Given the description of an element on the screen output the (x, y) to click on. 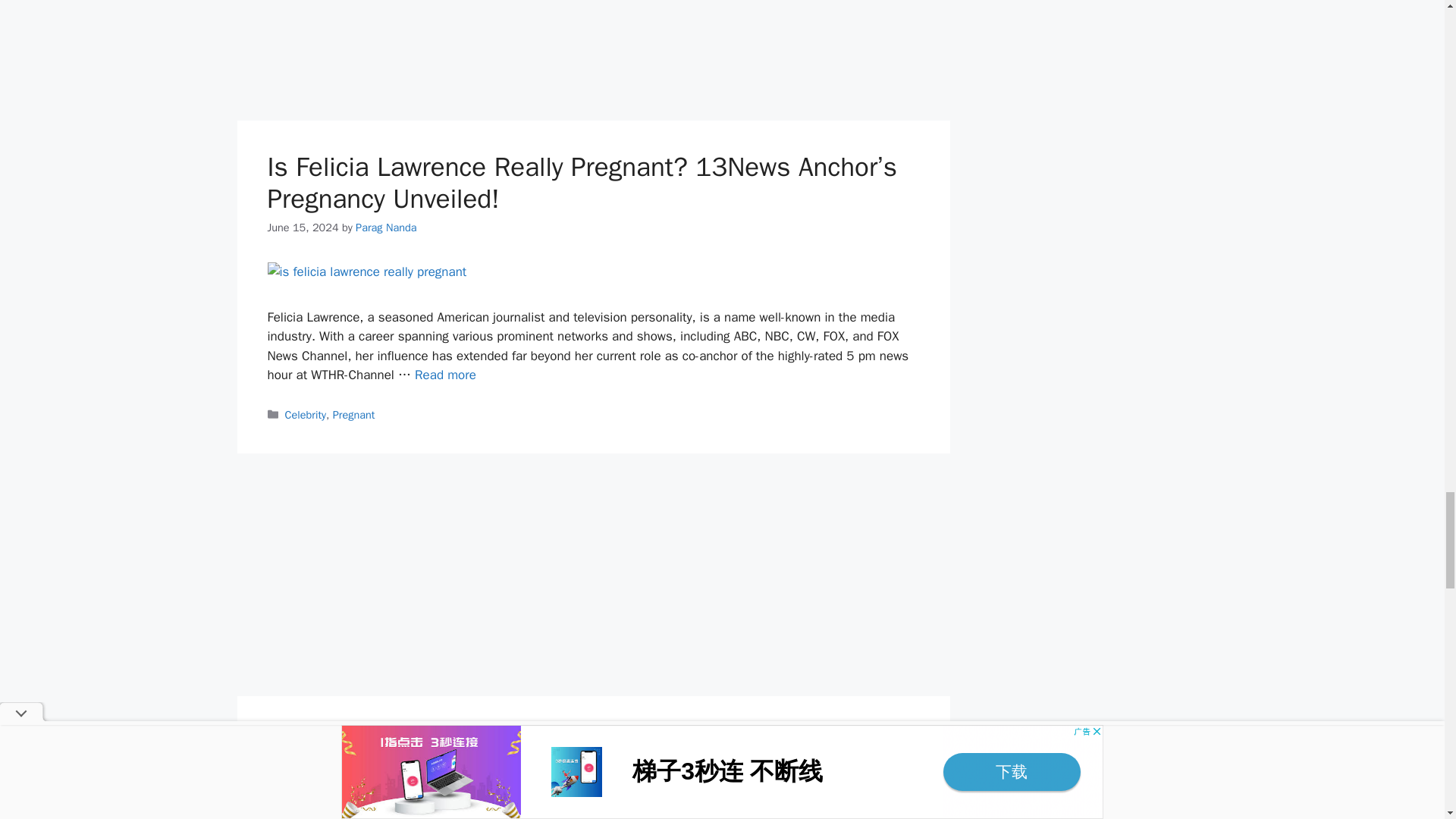
View all posts by Parag Nanda (385, 227)
